Given the description of an element on the screen output the (x, y) to click on. 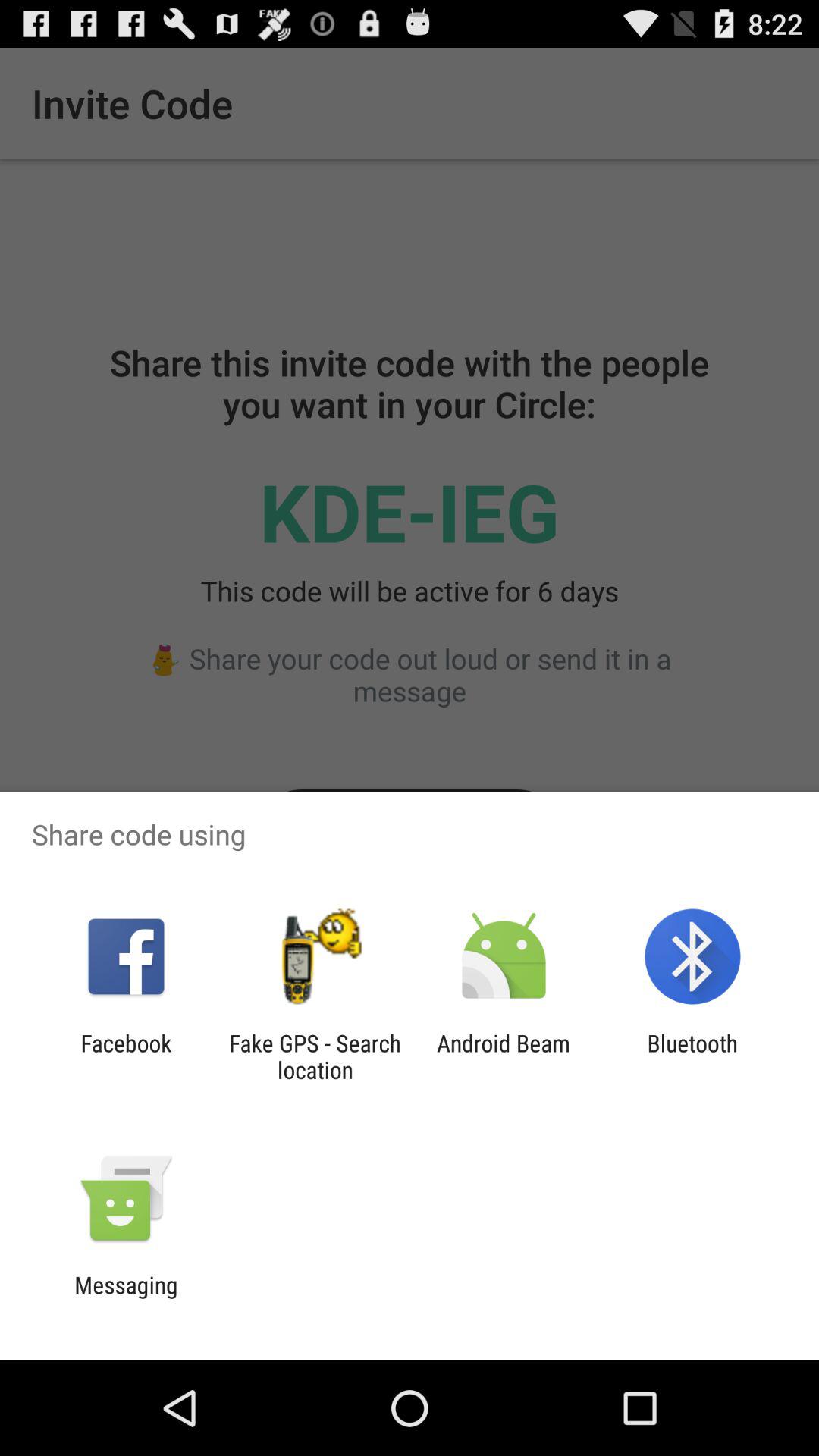
scroll to android beam icon (503, 1056)
